Given the description of an element on the screen output the (x, y) to click on. 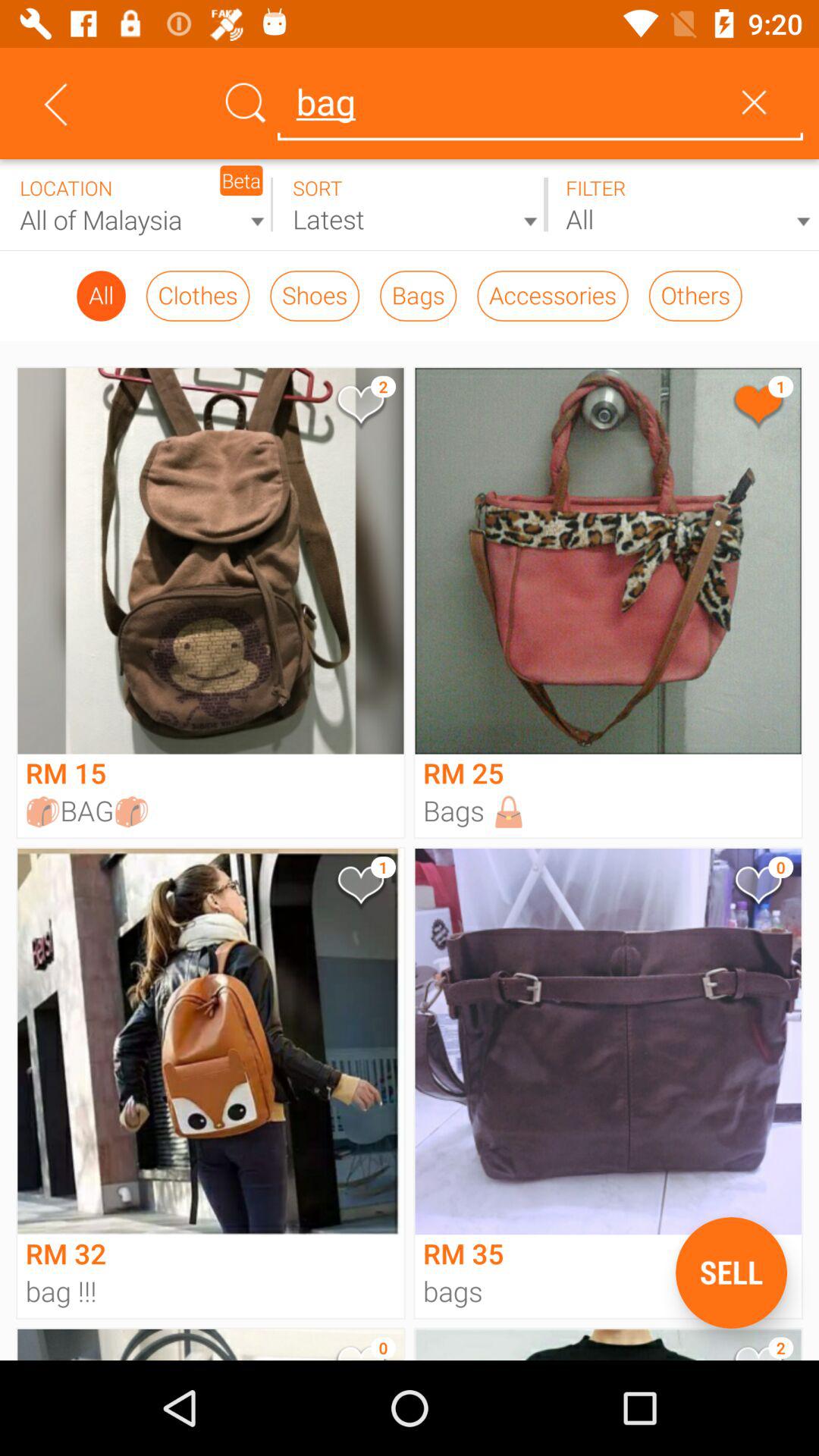
change location (136, 204)
